Given the description of an element on the screen output the (x, y) to click on. 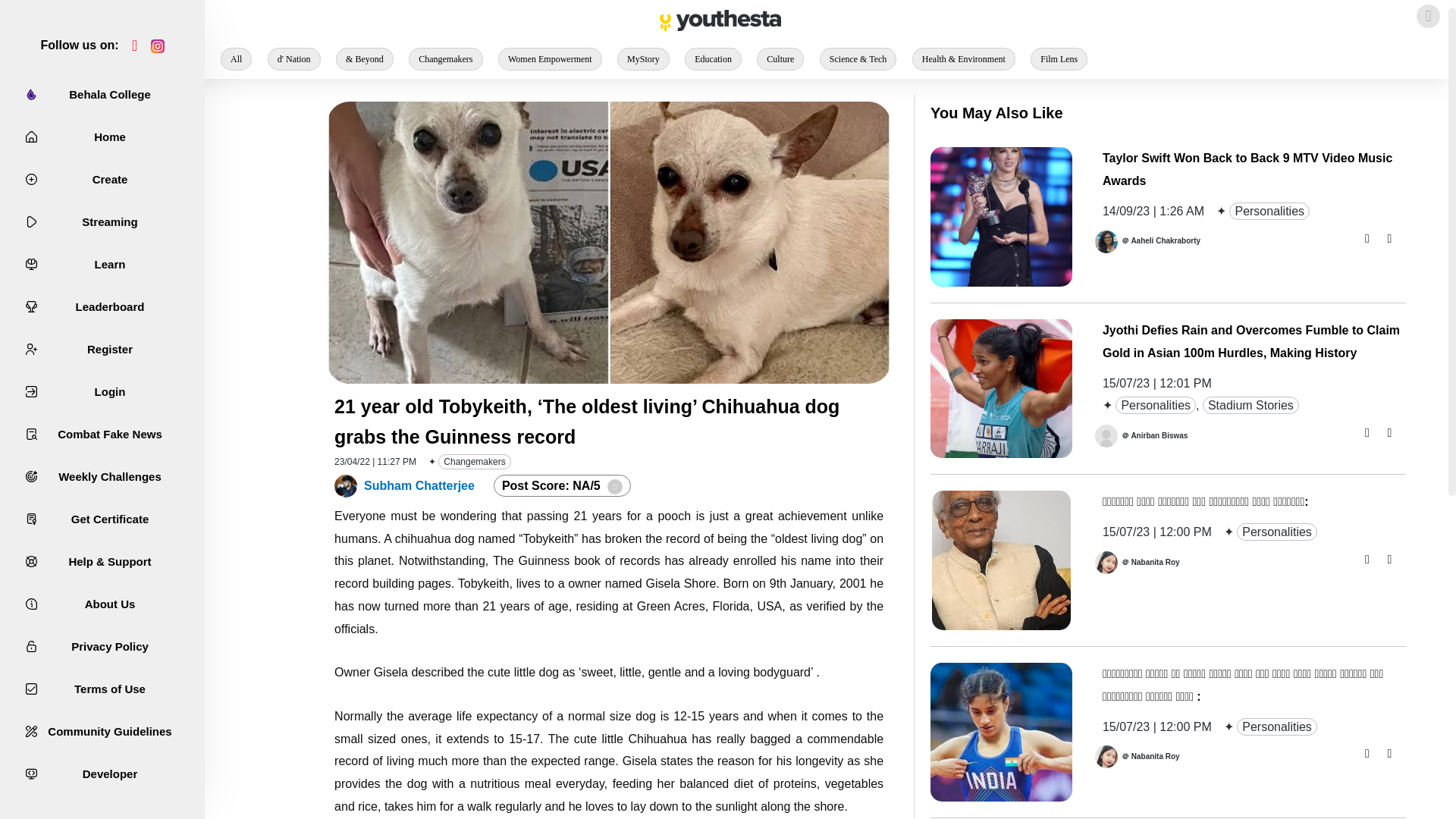
Home (101, 137)
Register (101, 349)
Film Lens (1058, 58)
Women Empowerment (549, 58)
Streaming (101, 222)
Changemakers (445, 58)
All (236, 58)
Leaderboard (101, 306)
Learn (101, 264)
Create (101, 179)
Culture (780, 58)
Education (712, 58)
d' Nation (293, 58)
MyStory (643, 58)
